Given the description of an element on the screen output the (x, y) to click on. 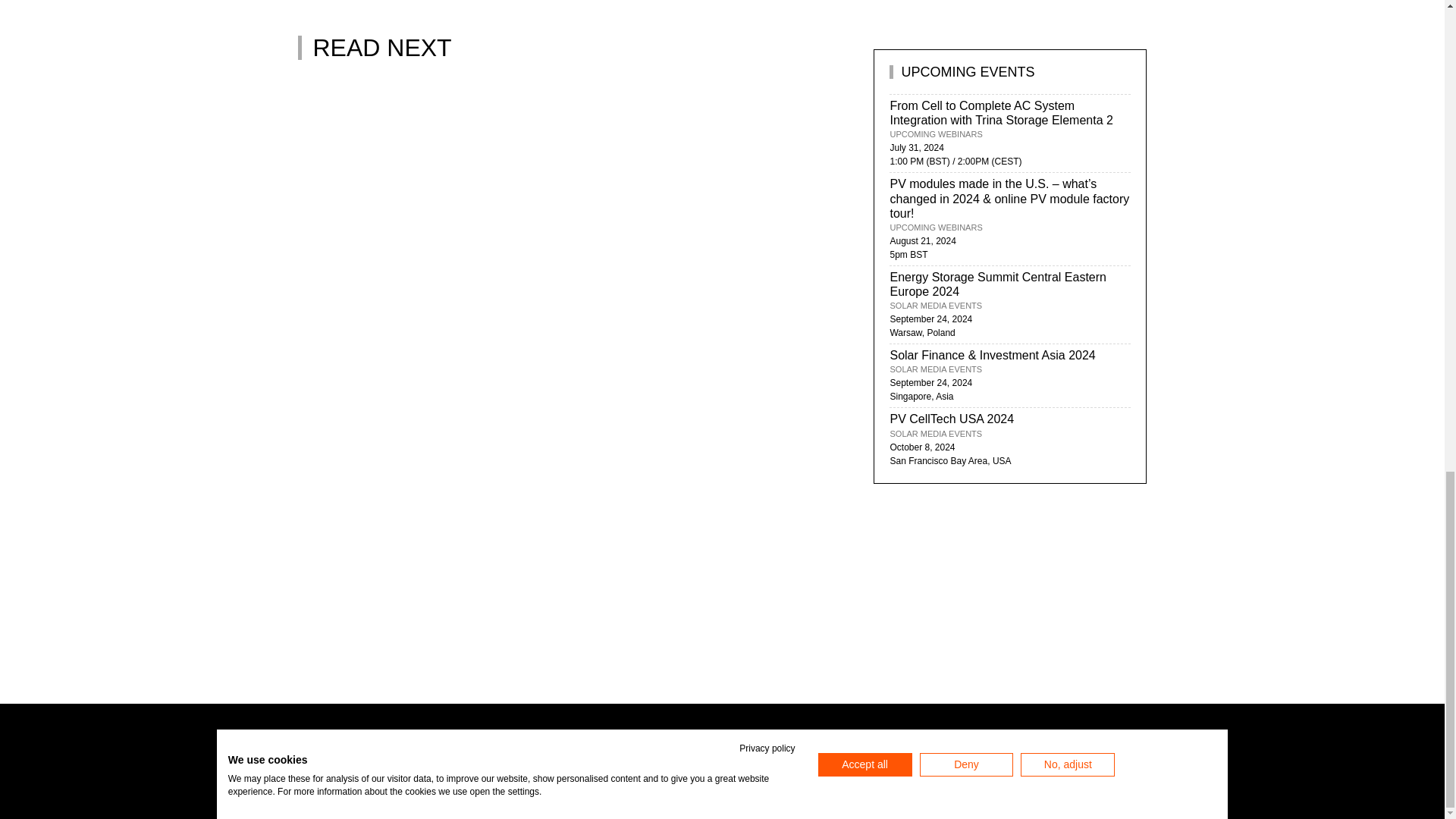
3rd party ad content (572, 6)
3rd party ad content (572, 136)
